Given the description of an element on the screen output the (x, y) to click on. 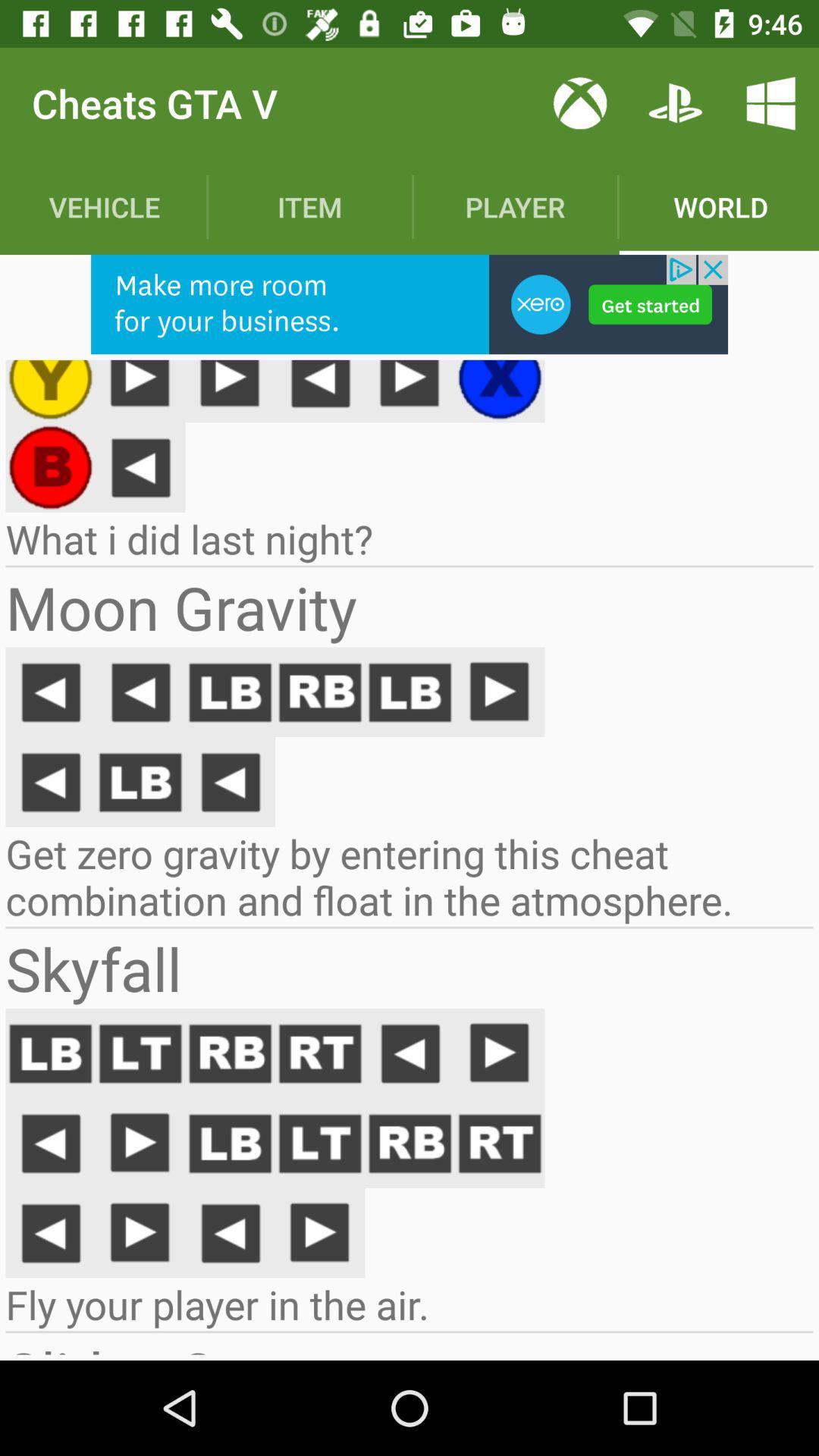
advertisement (409, 304)
